Given the description of an element on the screen output the (x, y) to click on. 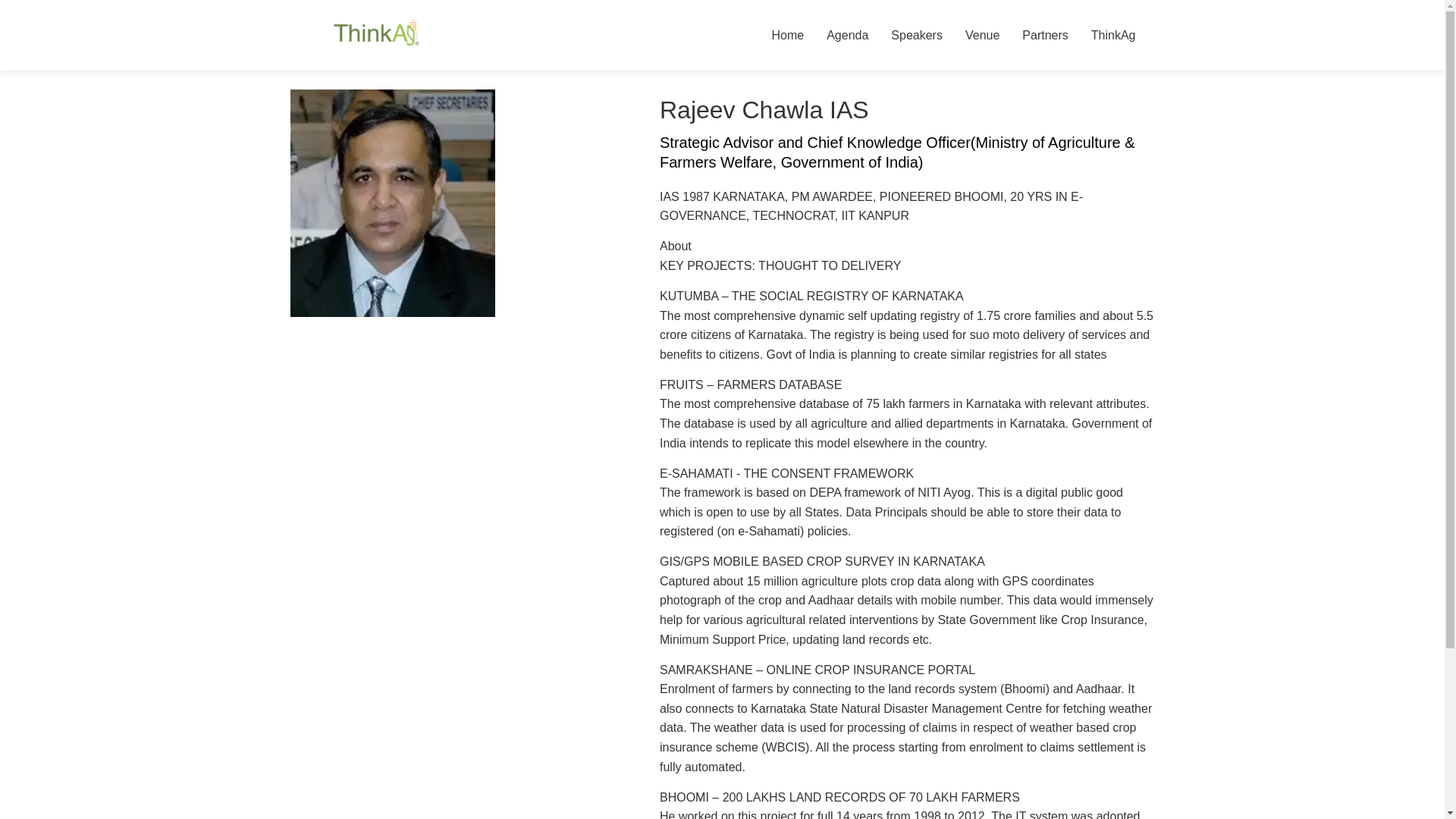
Speakers (916, 35)
Agenda (847, 35)
Venue (981, 35)
Home (787, 35)
Partners (1044, 35)
ThinkAg (1113, 35)
